Given the description of an element on the screen output the (x, y) to click on. 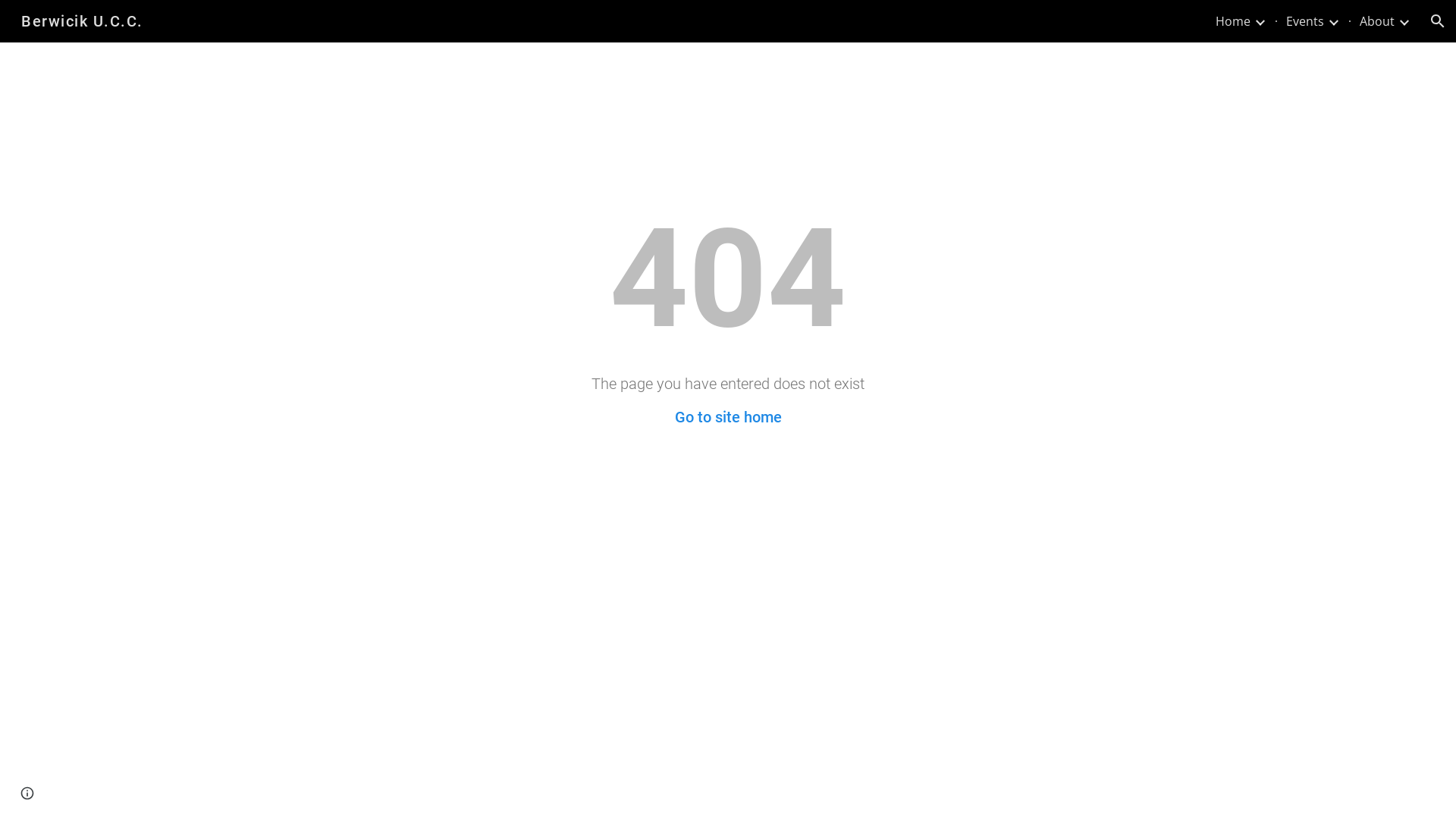
Home Element type: text (1232, 20)
Berwicik U.C.C. Element type: text (82, 19)
Events Element type: text (1305, 20)
Expand/Collapse Element type: hover (1332, 20)
Expand/Collapse Element type: hover (1259, 20)
About Element type: text (1376, 20)
Expand/Collapse Element type: hover (1403, 20)
Go to site home Element type: text (727, 416)
